Given the description of an element on the screen output the (x, y) to click on. 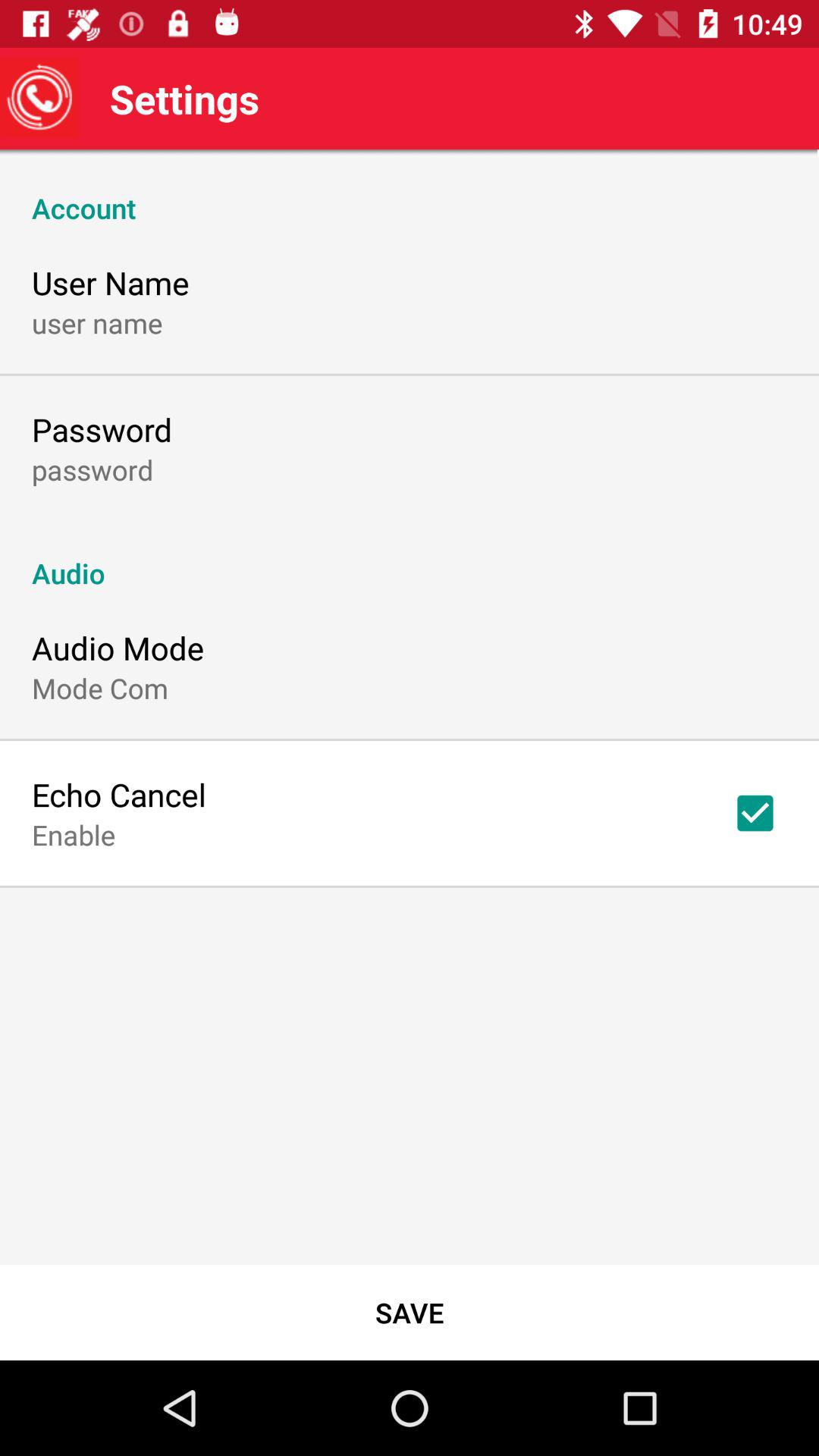
jump to save (409, 1312)
